Given the description of an element on the screen output the (x, y) to click on. 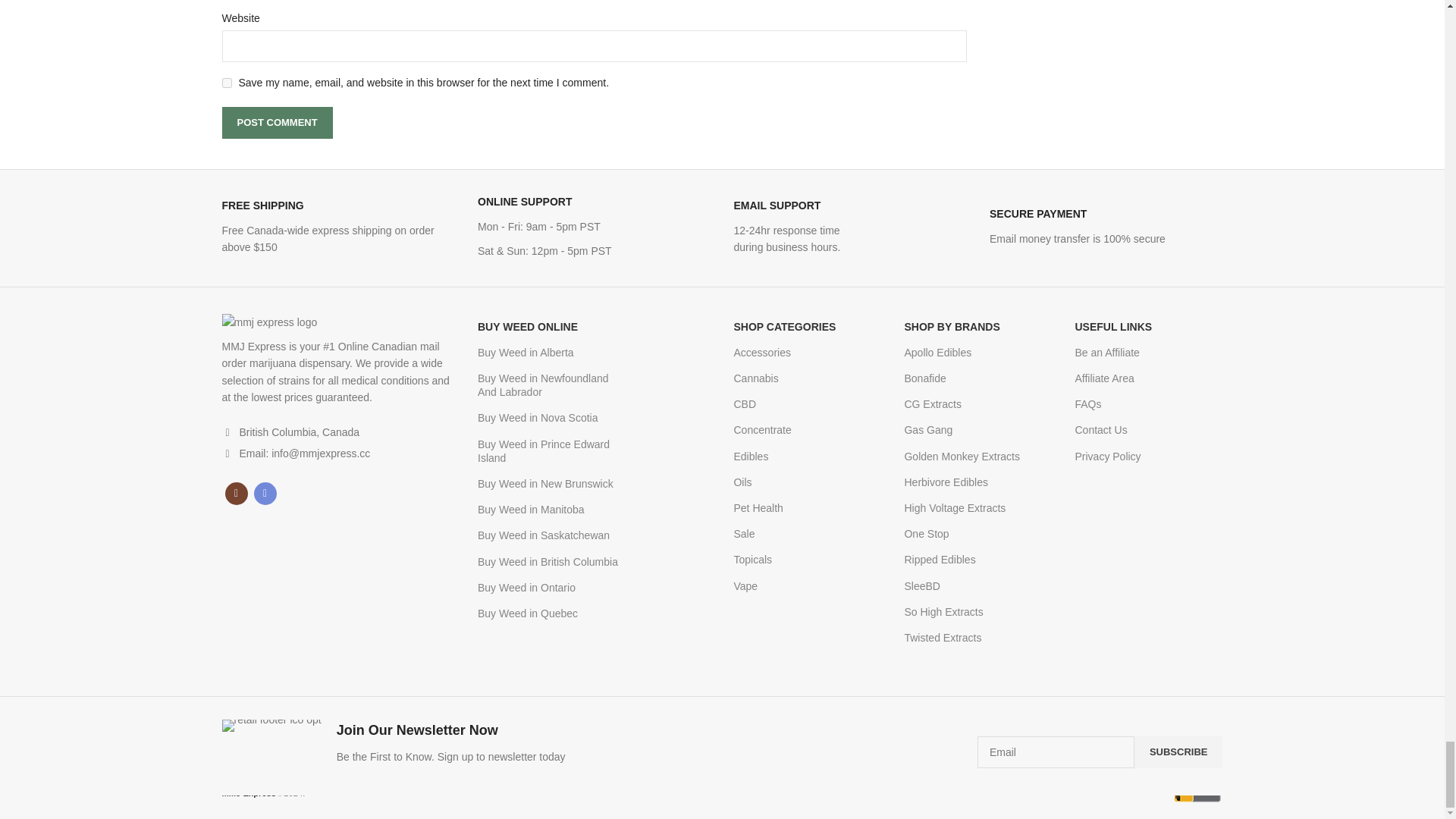
yes (226, 82)
Post Comment (276, 122)
